Given the description of an element on the screen output the (x, y) to click on. 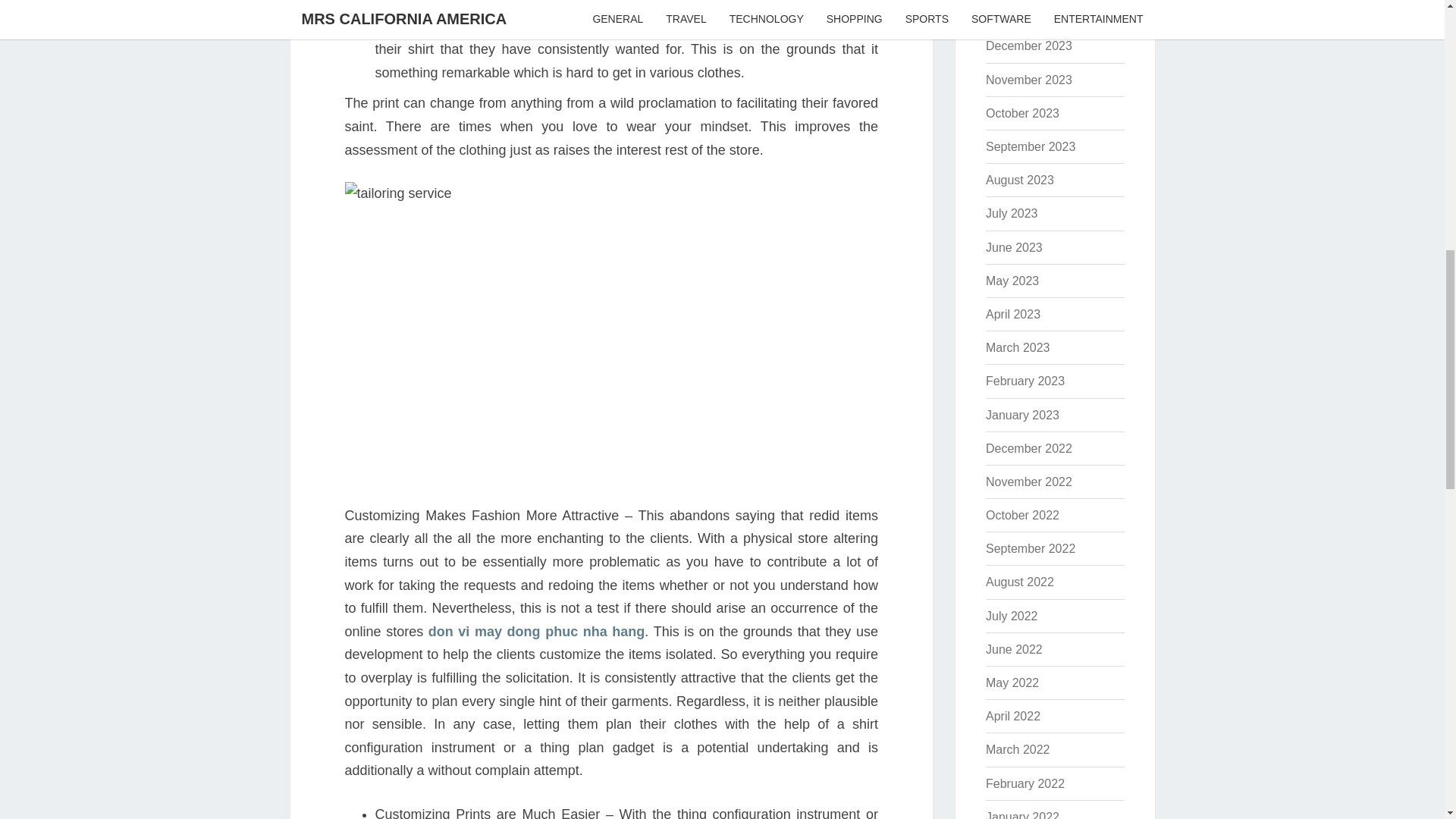
September 2023 (1030, 146)
January 2023 (1022, 414)
December 2022 (1028, 448)
February 2023 (1024, 380)
don vi may dong phuc nha hang (536, 631)
December 2023 (1028, 45)
May 2023 (1012, 280)
June 2023 (1013, 246)
October 2023 (1022, 113)
April 2023 (1013, 314)
